Given the description of an element on the screen output the (x, y) to click on. 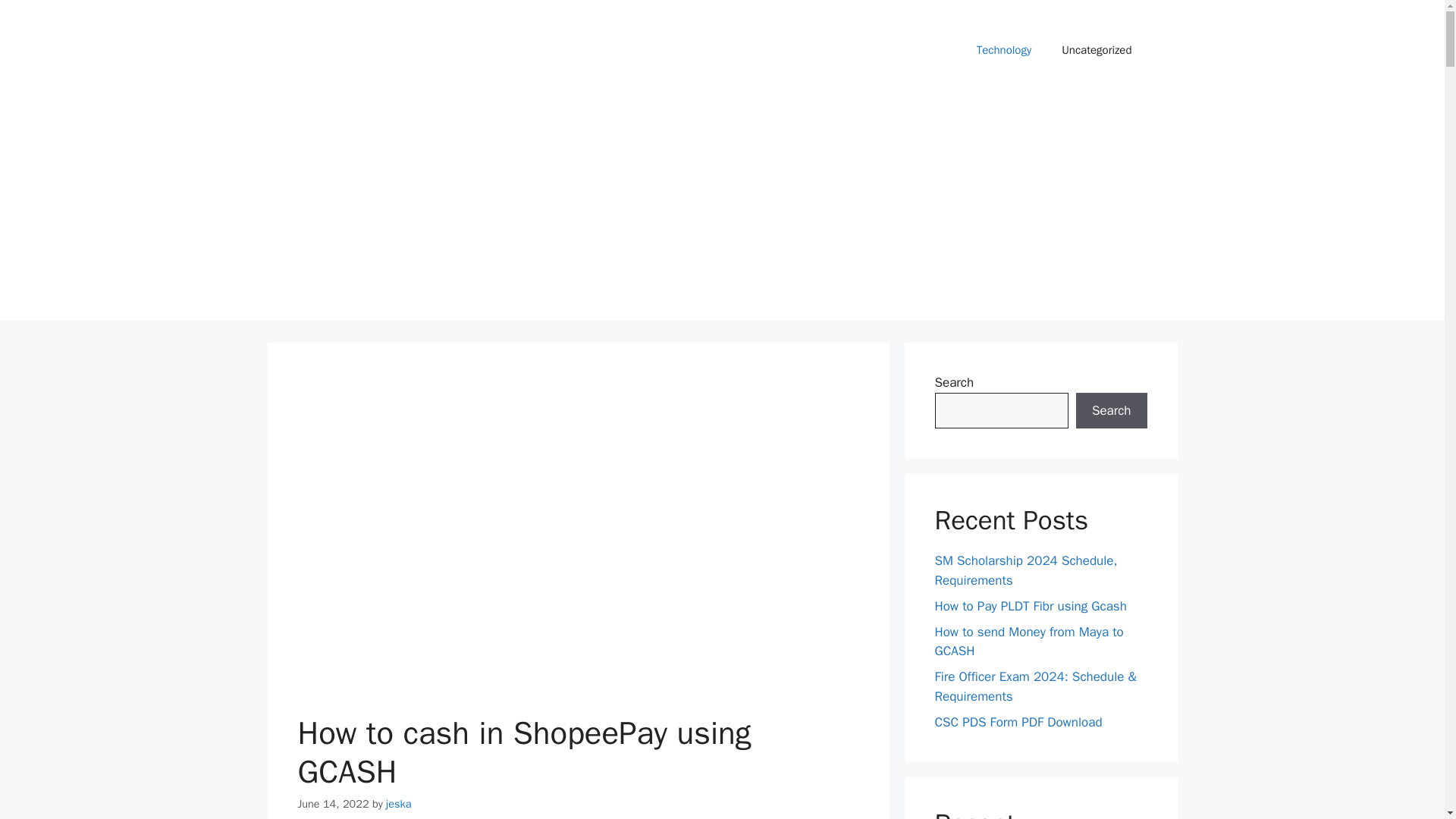
How to send Money from Maya to GCASH (1028, 642)
Uncategorized (1096, 49)
Technology (1003, 49)
CSC PDS Form PDF Download (1018, 722)
jeska (397, 803)
View all posts by jeska (397, 803)
How to Pay PLDT Fibr using Gcash (1029, 606)
Search (1111, 411)
SM Scholarship 2024 Schedule, Requirements (1025, 570)
